Given the description of an element on the screen output the (x, y) to click on. 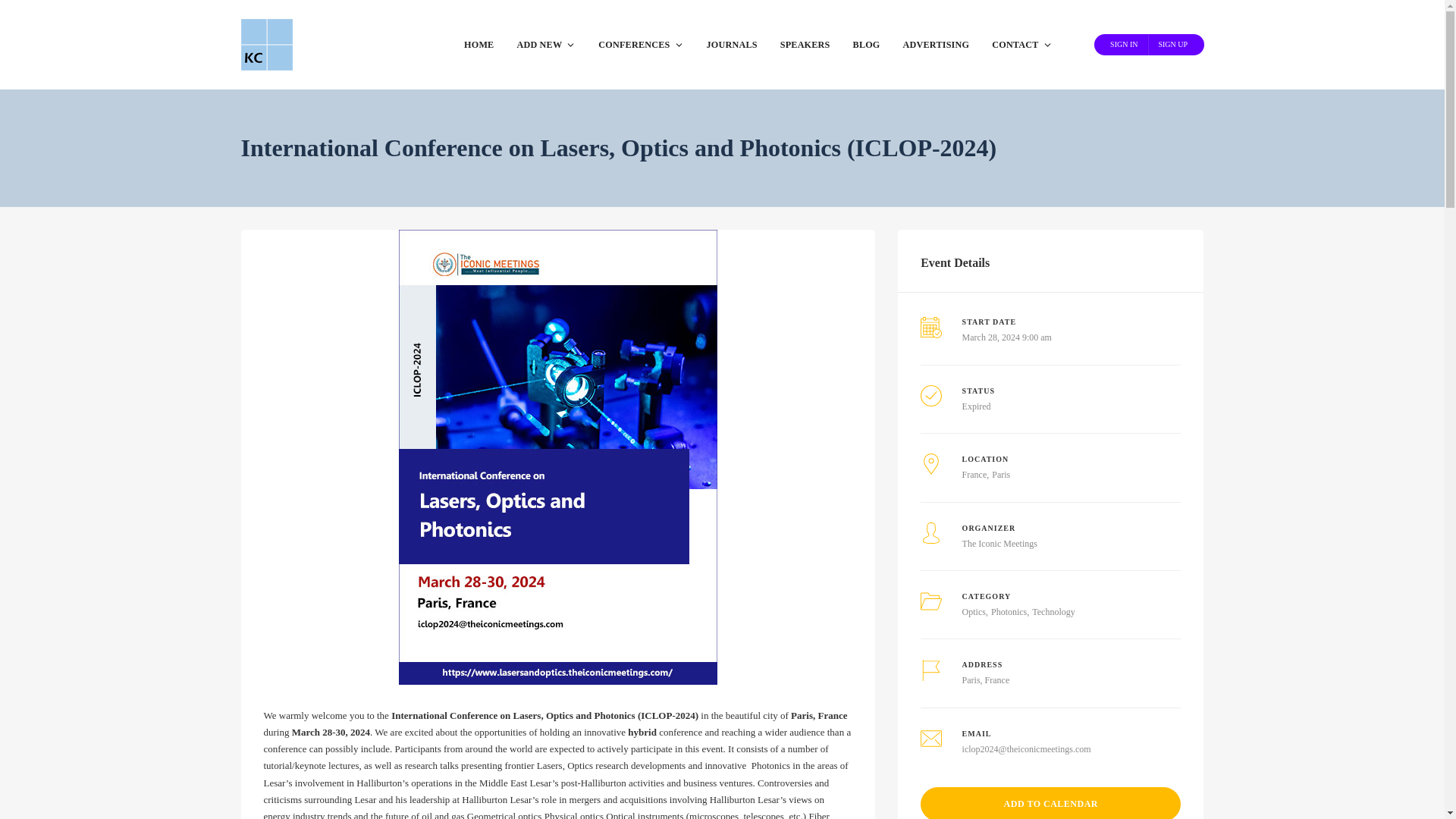
JOURNALS (731, 44)
BLOG (866, 44)
SPEAKERS (804, 44)
HOME (478, 44)
ADVERTISING (936, 44)
CONFERENCES (640, 44)
ADD NEW (545, 44)
